Given the description of an element on the screen output the (x, y) to click on. 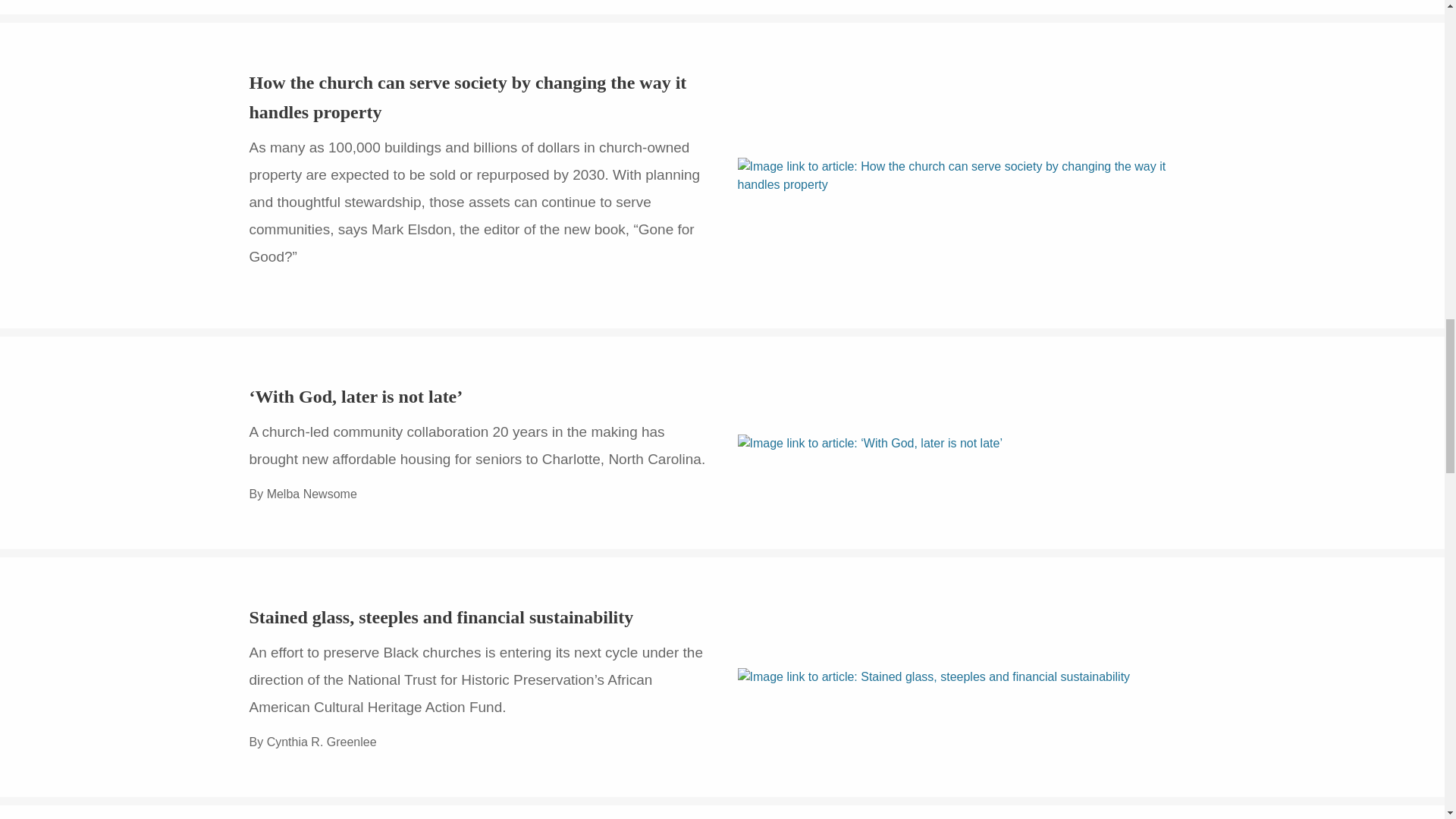
Stained glass, steeples and financial sustainability (440, 617)
